Given the description of an element on the screen output the (x, y) to click on. 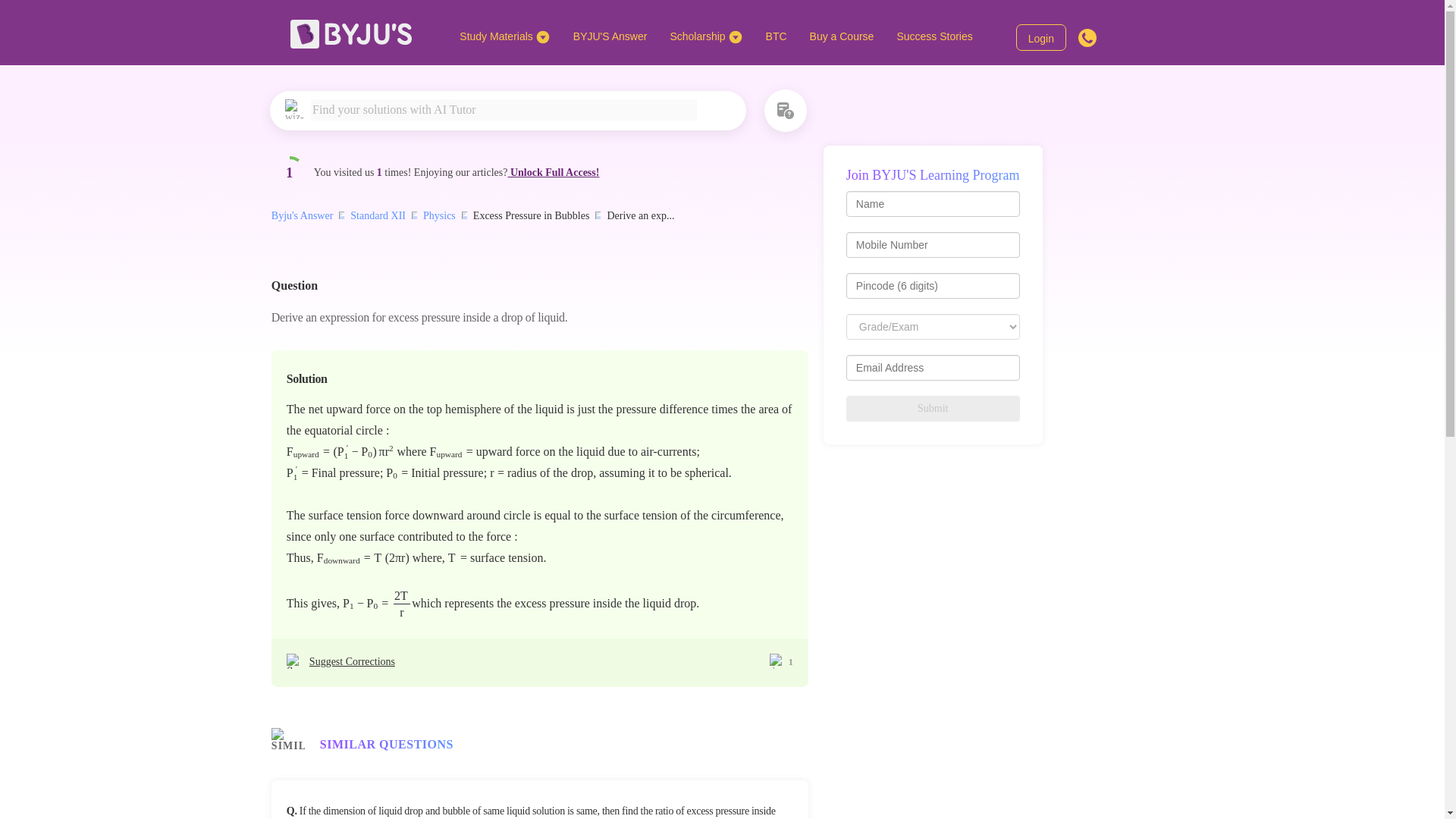
Study Materials (504, 35)
